Given the description of an element on the screen output the (x, y) to click on. 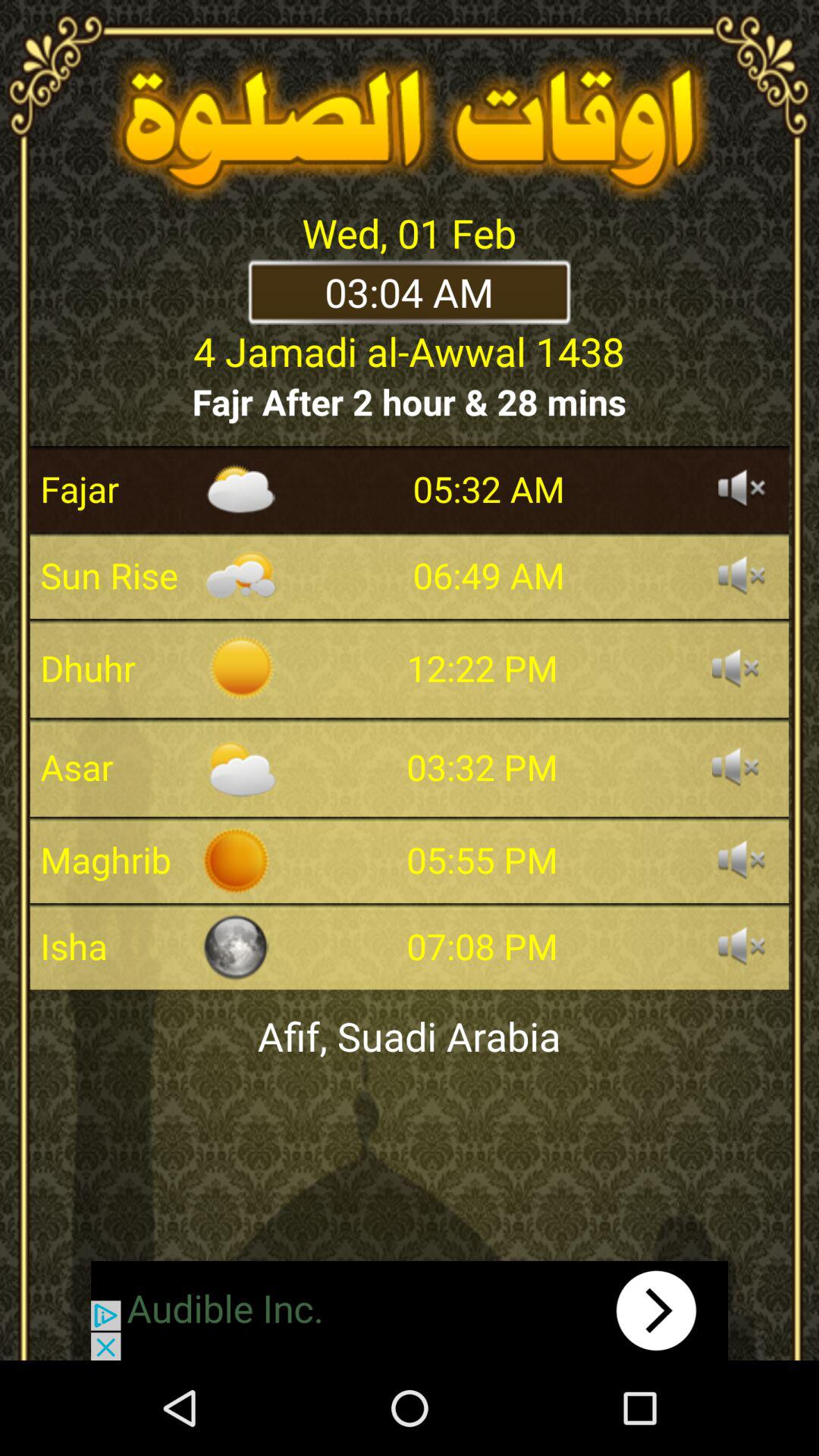
toggle audio (741, 488)
